Given the description of an element on the screen output the (x, y) to click on. 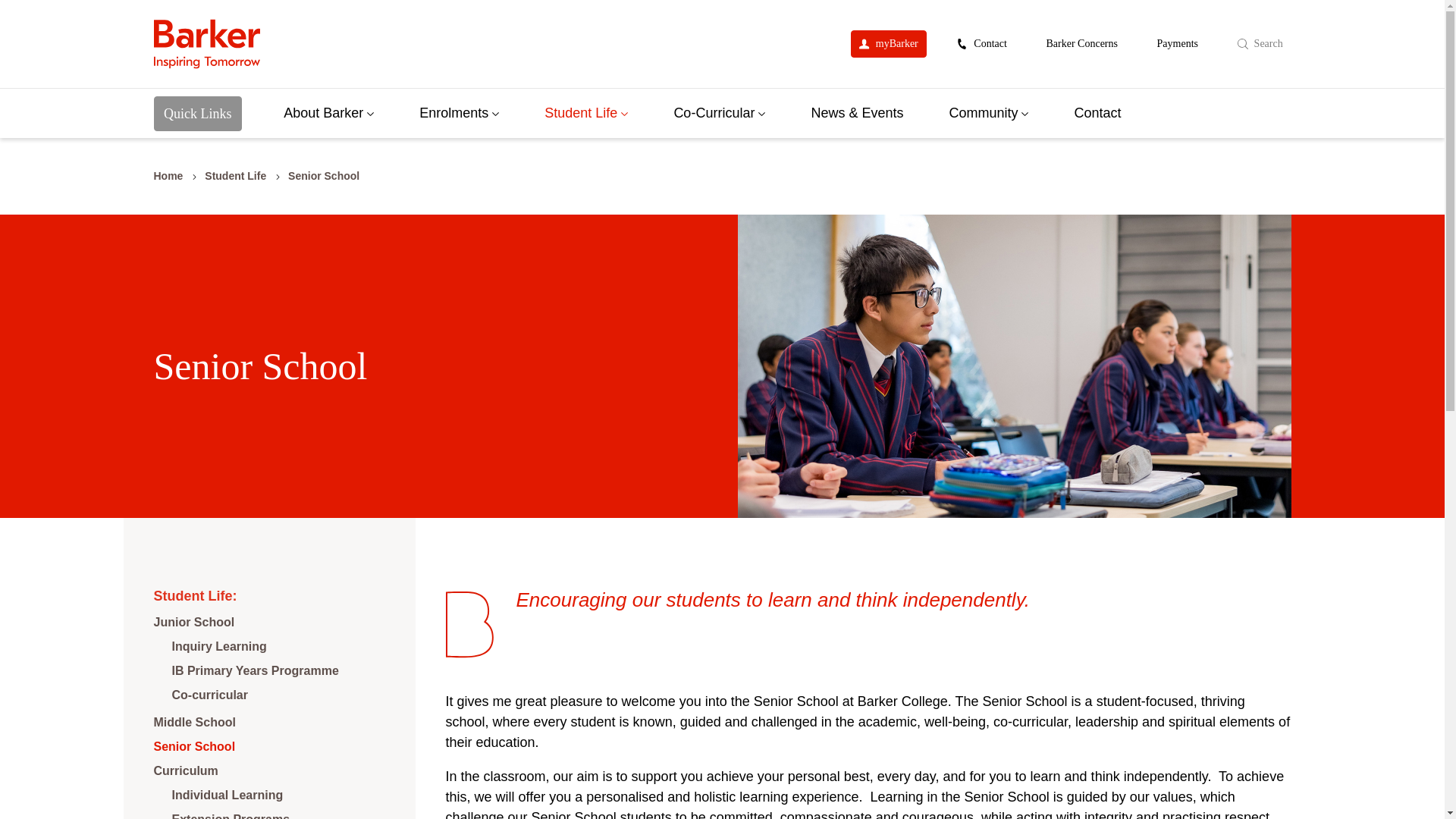
Search (1259, 43)
Quick Links (196, 113)
Barker Concerns (1081, 43)
Payments (1177, 43)
Contact (981, 43)
myBarker (888, 43)
About Barker (328, 113)
